Given the description of an element on the screen output the (x, y) to click on. 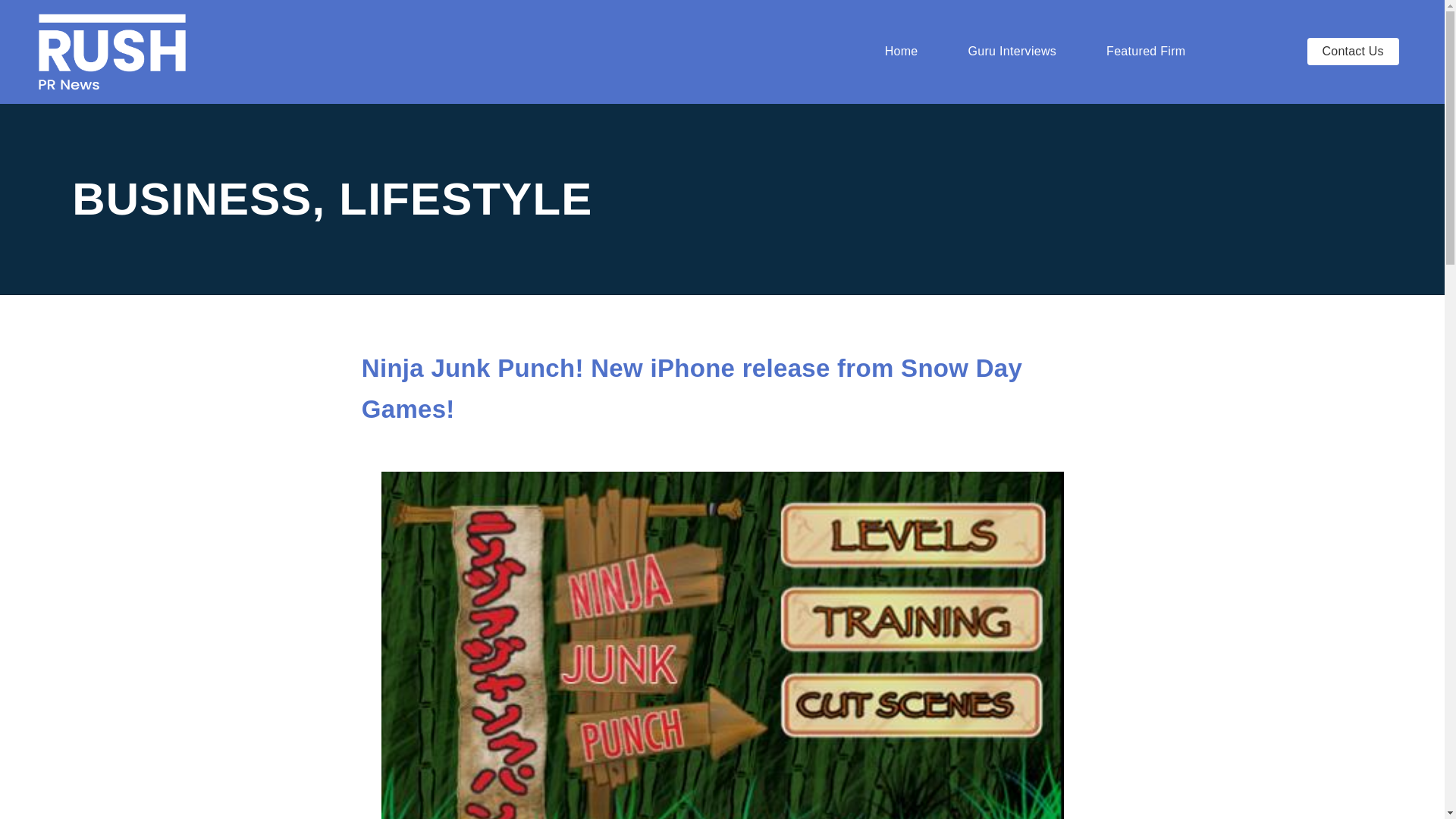
Home (901, 51)
Guru Interviews (1012, 51)
Contact Us (1353, 51)
Featured Firm (1149, 51)
